Given the description of an element on the screen output the (x, y) to click on. 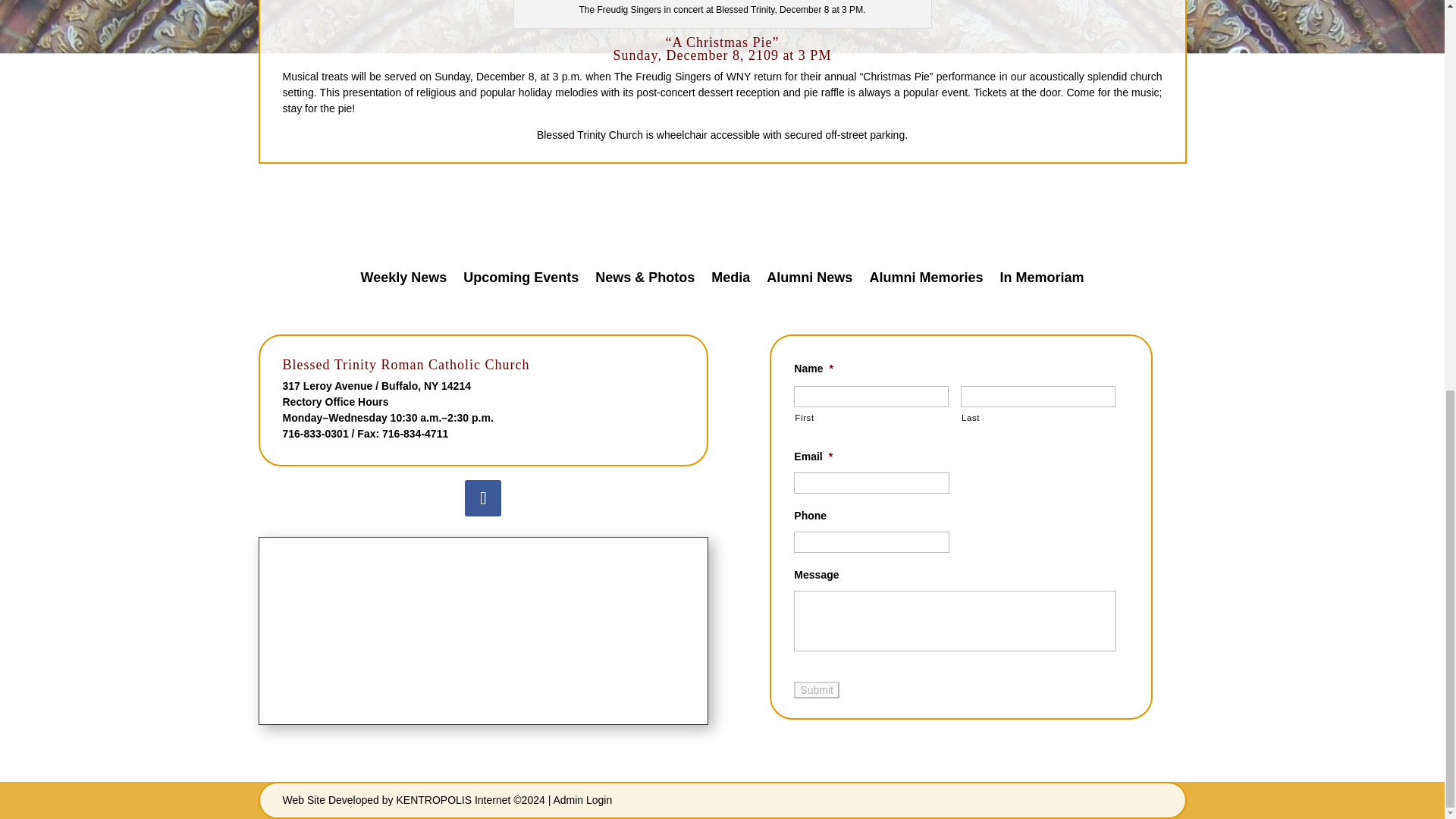
KENTROPOLIS Internet (453, 799)
Alumni News (809, 280)
Media (730, 280)
Submit (816, 689)
Weekly News (403, 280)
Admin Login (582, 799)
Alumni Memories (925, 280)
Upcoming Events (520, 280)
Follow on Facebook (482, 497)
In Memoriam (1040, 280)
